Given the description of an element on the screen output the (x, y) to click on. 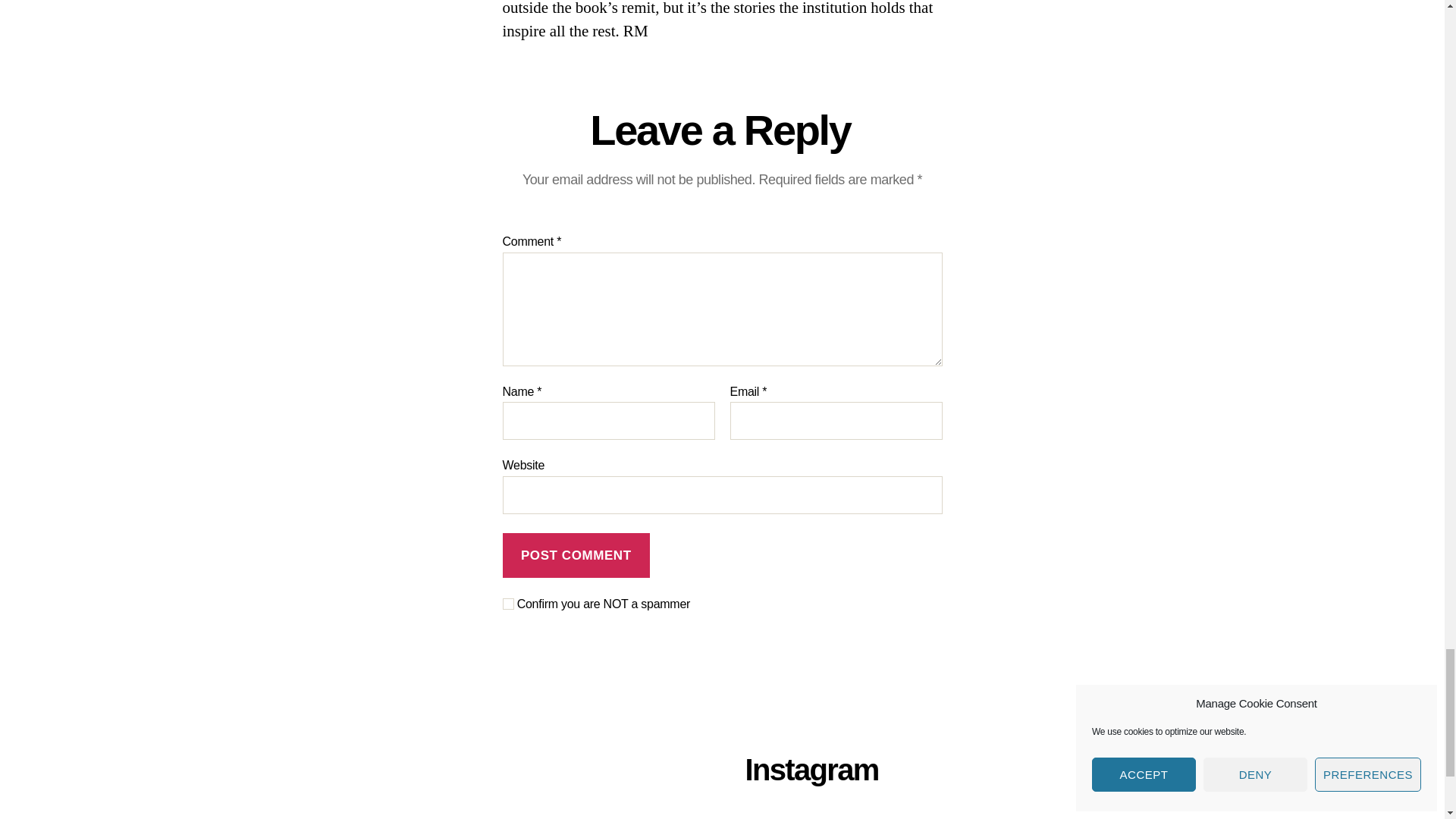
Post Comment (575, 555)
Post Comment (575, 555)
on (507, 603)
